Given the description of an element on the screen output the (x, y) to click on. 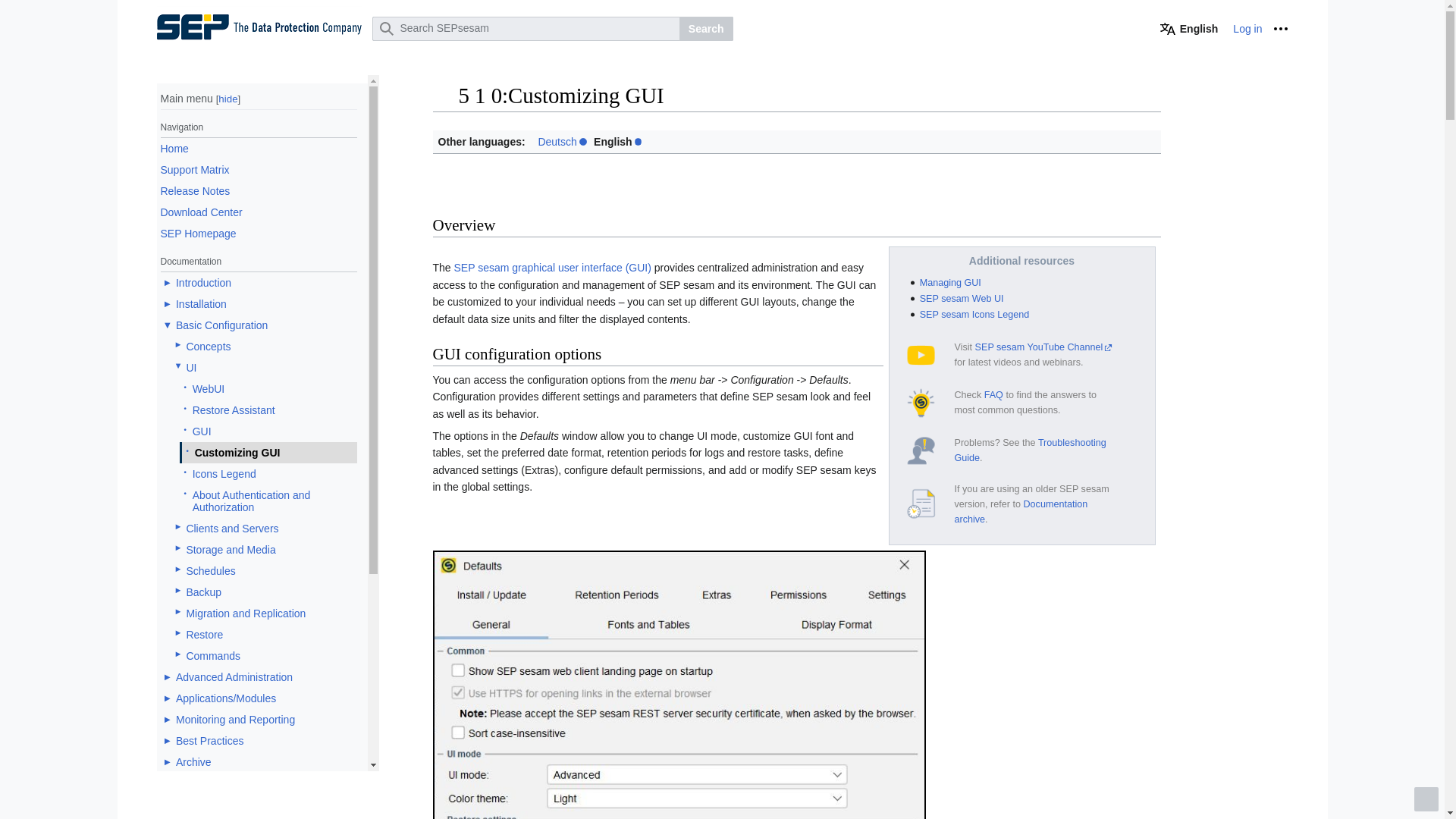
Home (174, 148)
hide (228, 98)
Log in (1247, 28)
More options (1280, 28)
English (1189, 28)
Download Center (201, 211)
Installation (201, 303)
Search (706, 28)
Release Notes (195, 190)
Support Matrix (195, 169)
SEP Homepage (197, 233)
Introduction (203, 282)
